Given the description of an element on the screen output the (x, y) to click on. 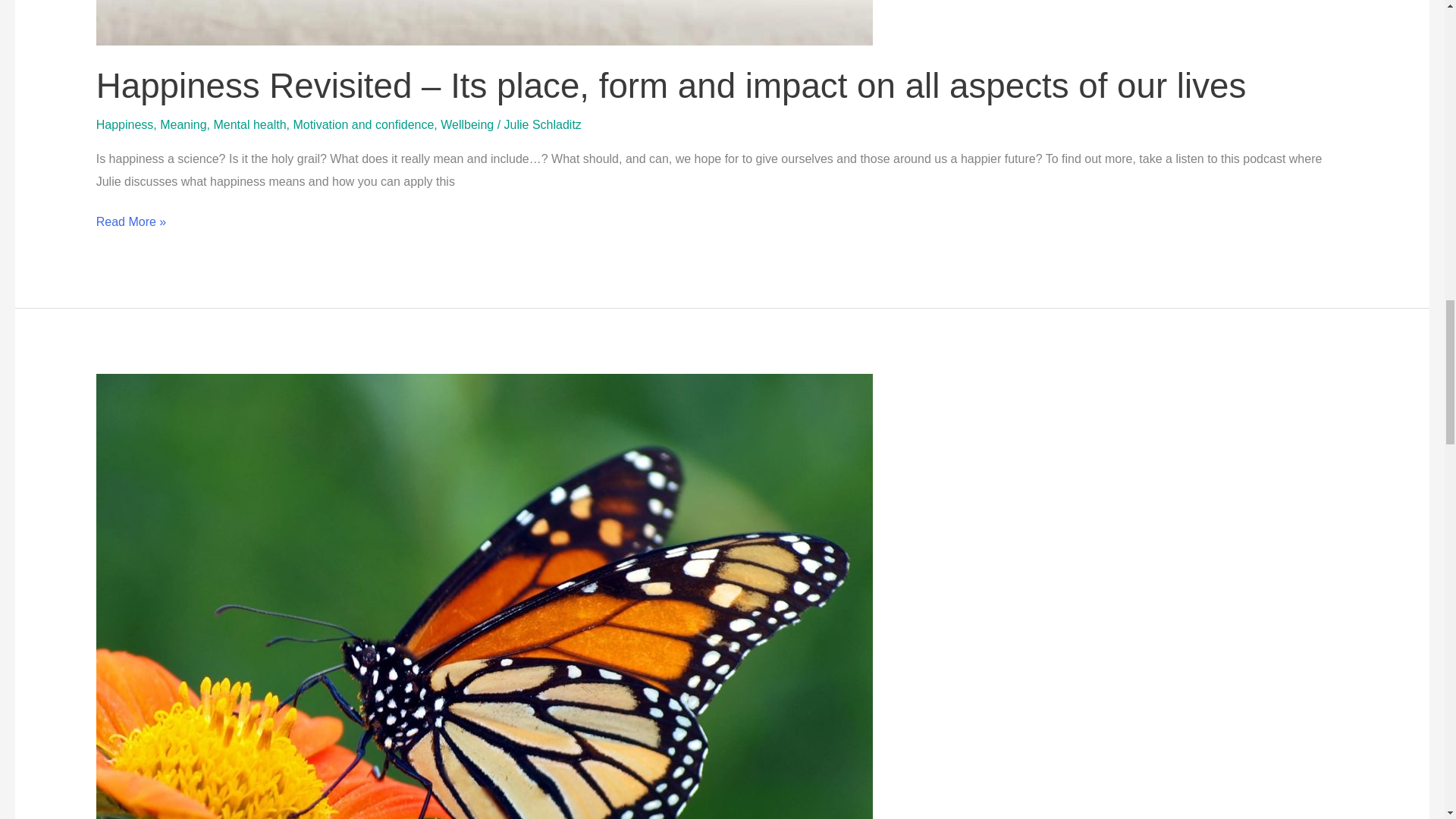
Mental health (248, 124)
Meaning (183, 124)
Motivation and confidence (362, 124)
View all posts by Julie Schladitz (541, 124)
Happiness (125, 124)
Wellbeing (467, 124)
Julie Schladitz (541, 124)
